Given the description of an element on the screen output the (x, y) to click on. 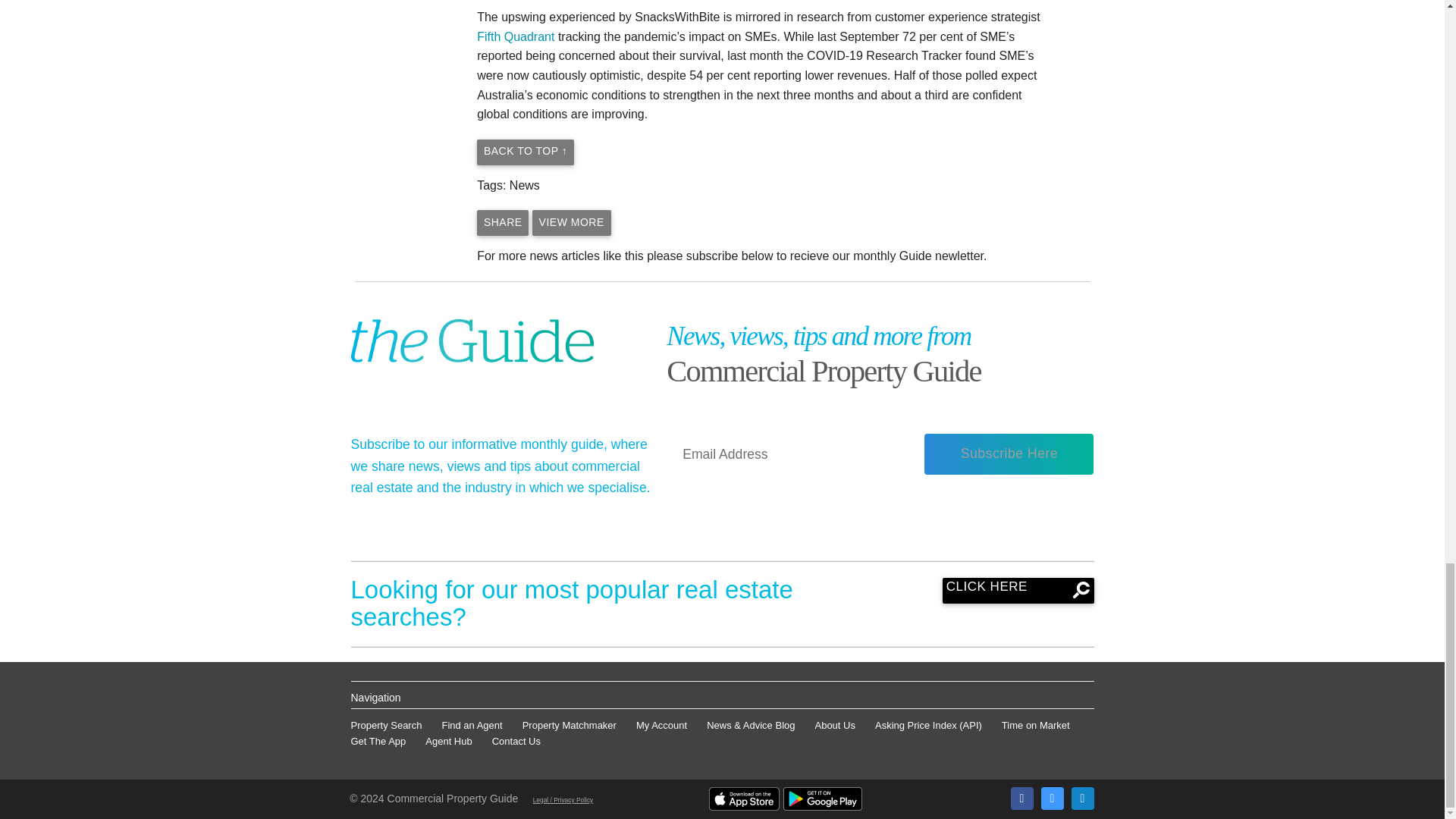
Go back to top (525, 152)
CLICK HERE (1017, 590)
Subscribe Here (1008, 454)
VIEW MORE (571, 222)
SHARE (502, 222)
Follow us on Twitter (1051, 798)
Like us on Facebook (1021, 798)
Fifth Quadrant (515, 36)
Connect with us on LinkedIn (1081, 798)
